Given the description of an element on the screen output the (x, y) to click on. 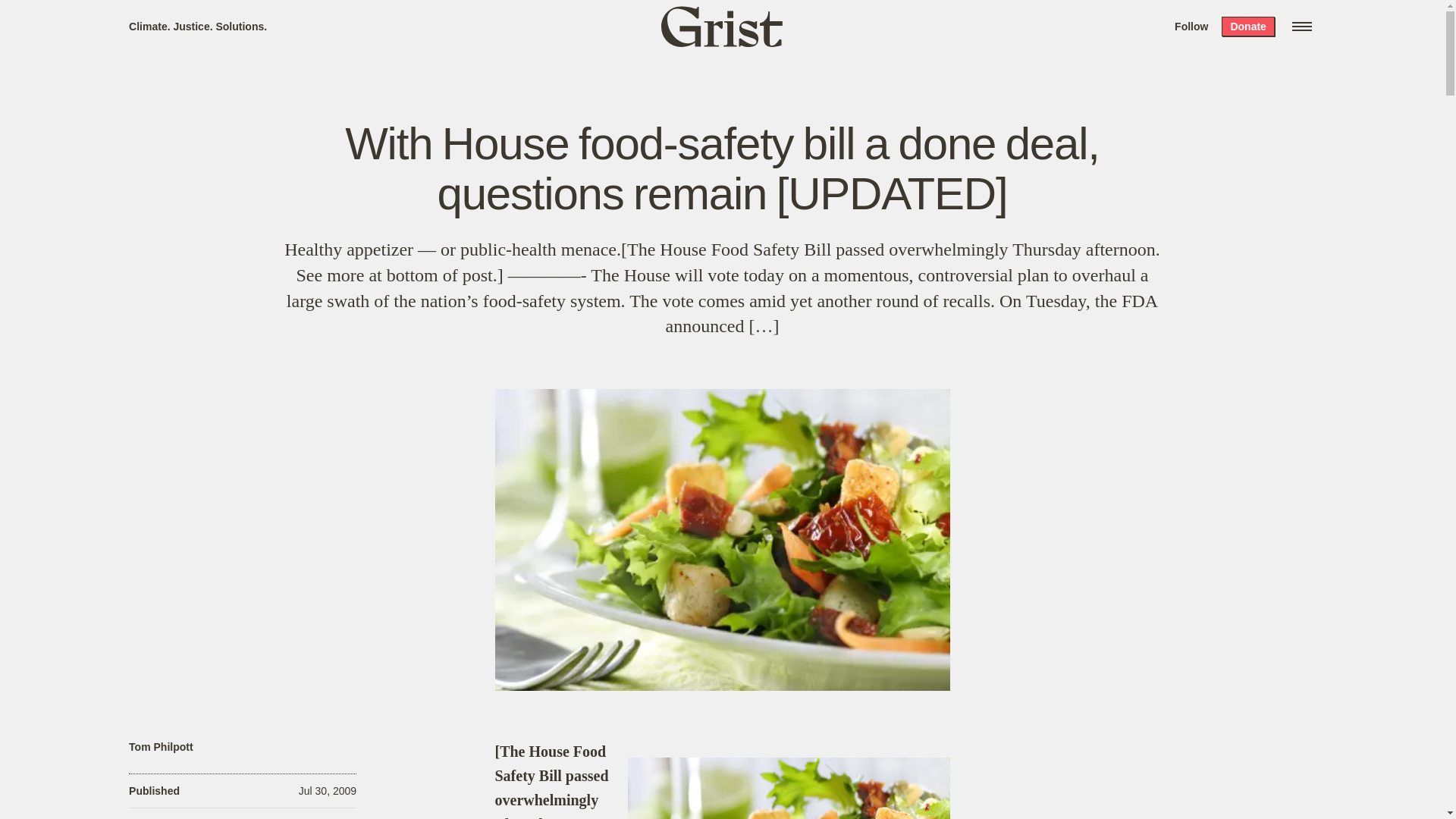
Donate (1247, 26)
Search (227, 18)
Follow (1191, 26)
Tom Philpott (161, 747)
Grist home (722, 25)
